Given the description of an element on the screen output the (x, y) to click on. 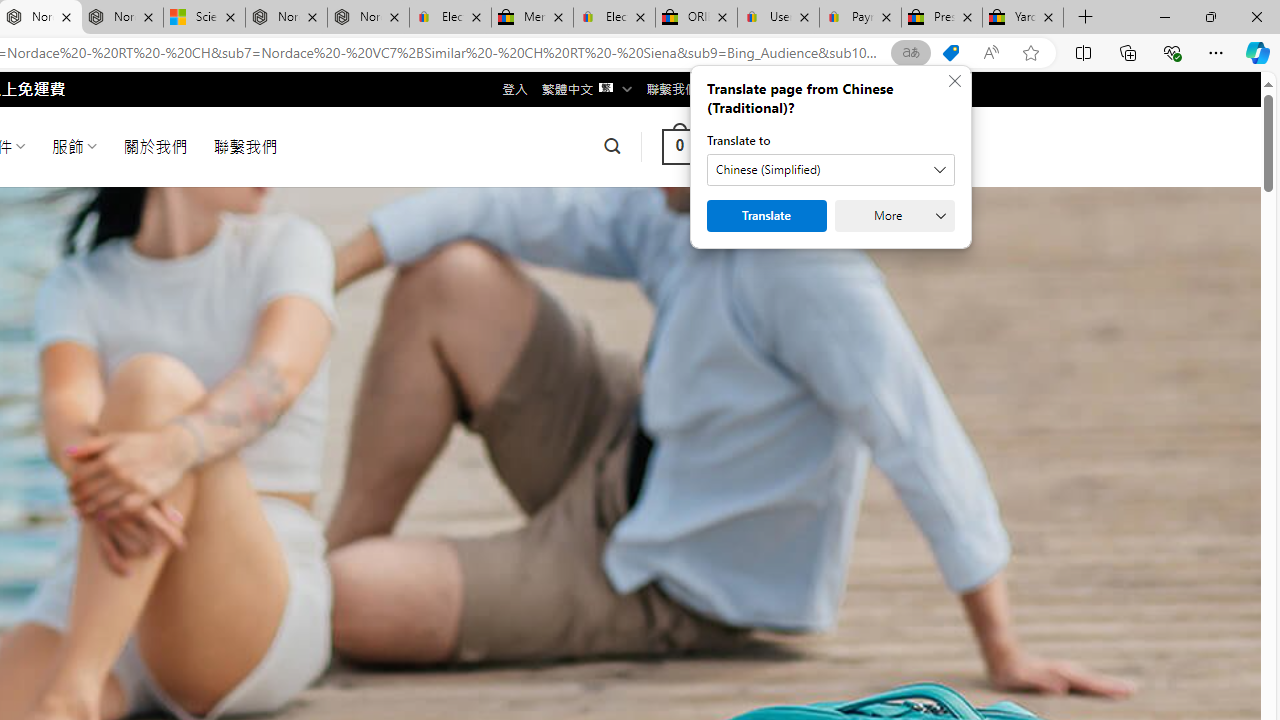
Electronics, Cars, Fashion, Collectibles & More | eBay (614, 17)
New Tab (1085, 17)
Nordace - Summer Adventures 2024 (285, 17)
Split screen (1083, 52)
 0  (679, 146)
Restore (1210, 16)
Read aloud this page (Ctrl+Shift+U) (991, 53)
  0   (679, 146)
Translate to (830, 169)
